Given the description of an element on the screen output the (x, y) to click on. 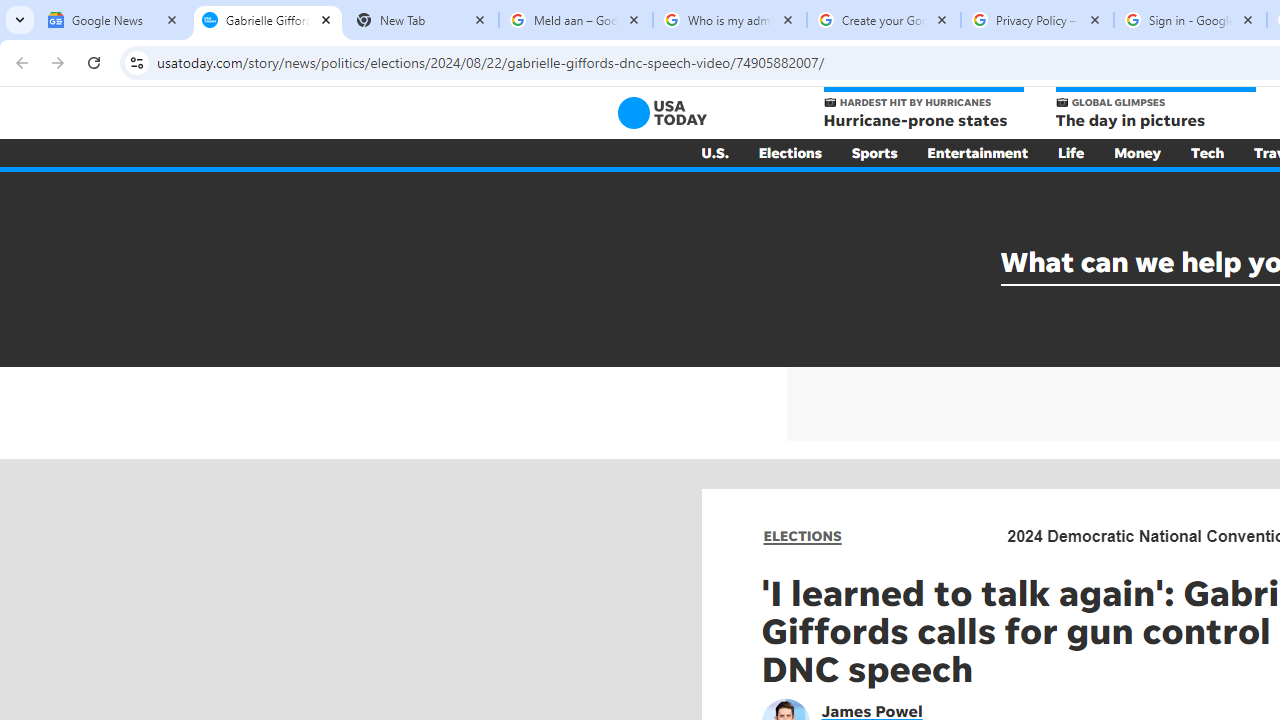
Money (1137, 152)
Entertainment (977, 152)
New Tab (421, 20)
Elections (789, 152)
U.S. (714, 152)
Tech (1207, 152)
Sports (873, 152)
